Given the description of an element on the screen output the (x, y) to click on. 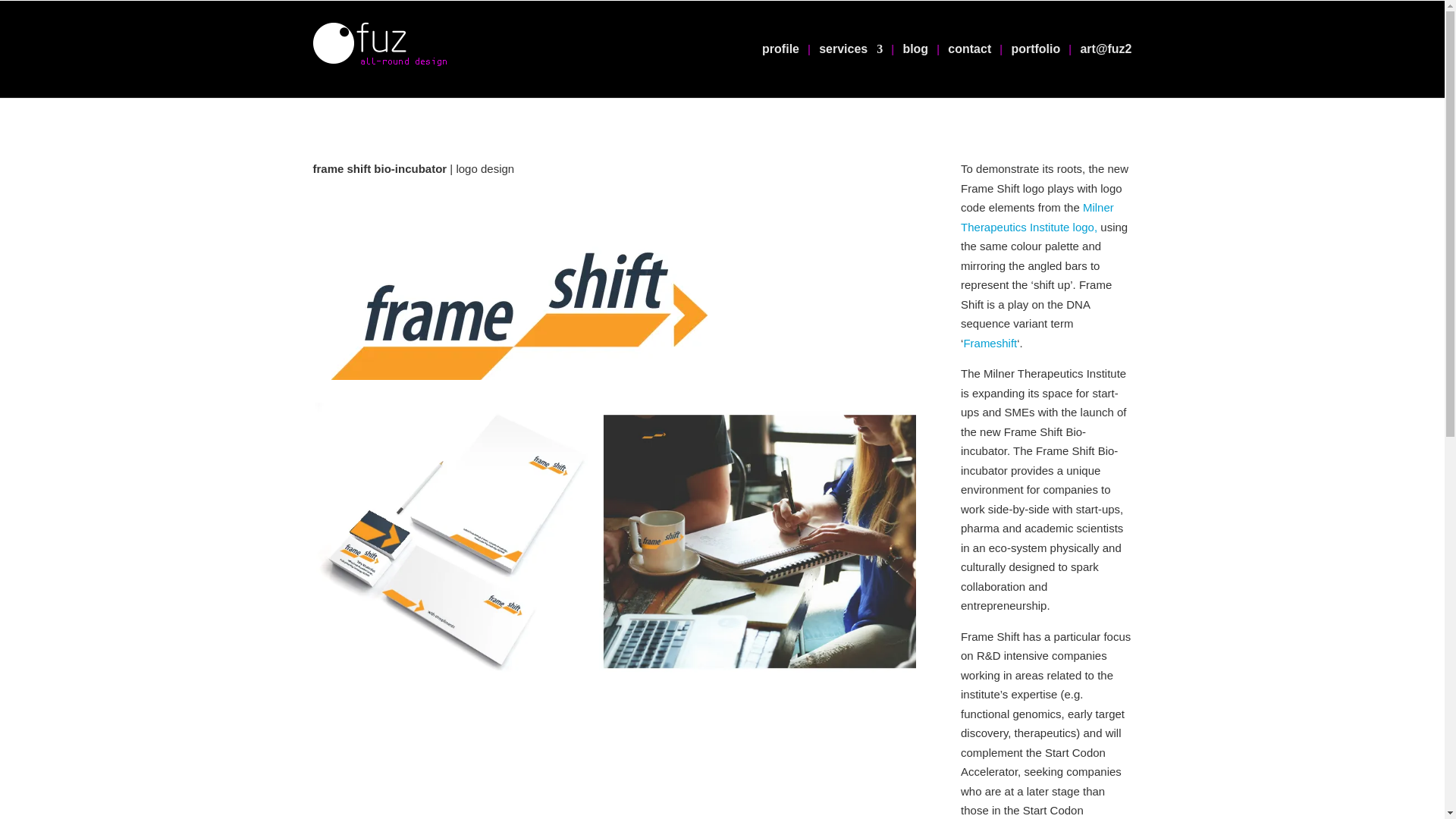
portfolio (1034, 70)
Frameshift (989, 342)
Milner Therapeutics Institute logo, (1036, 216)
services (850, 70)
